Given the description of an element on the screen output the (x, y) to click on. 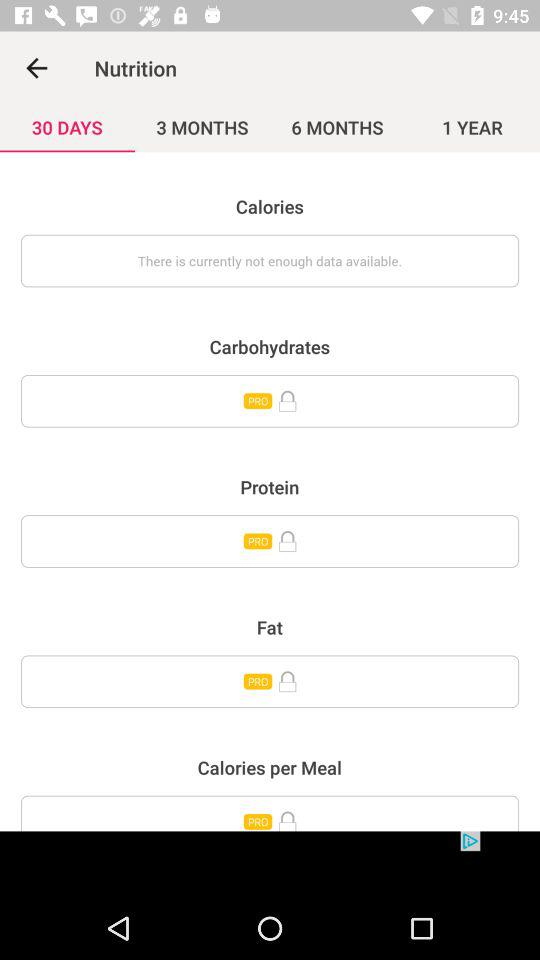
unlocks fat section (269, 681)
